Given the description of an element on the screen output the (x, y) to click on. 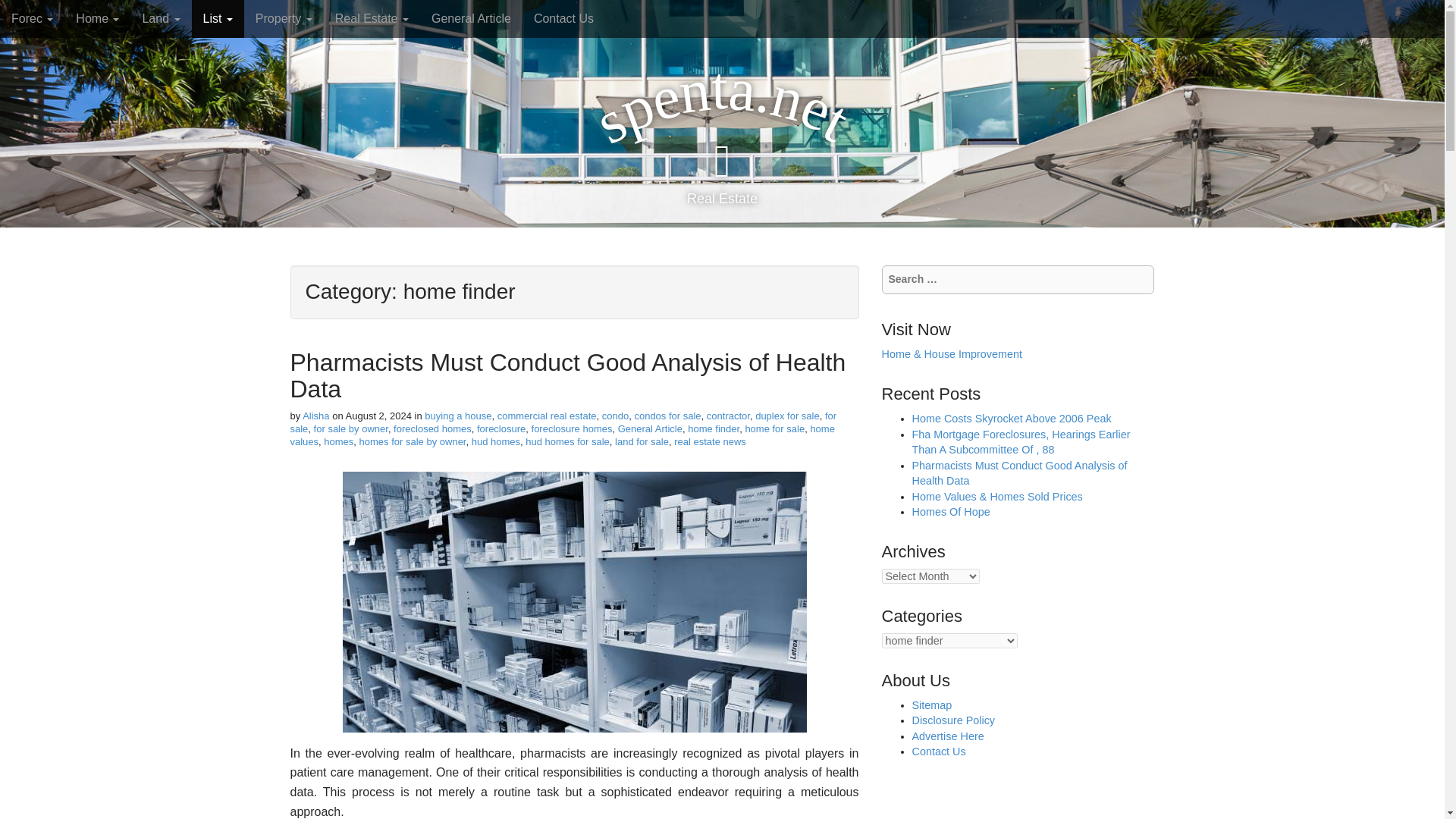
Property (283, 18)
Pharmacists Must Conduct Good Analysis of Health Data (567, 375)
contractor (727, 415)
Real Estate (371, 18)
General Article (471, 18)
Alisha (315, 415)
August 2, 2024 (379, 415)
buying a house (458, 415)
condo (615, 415)
Contact Us (563, 18)
